Given the description of an element on the screen output the (x, y) to click on. 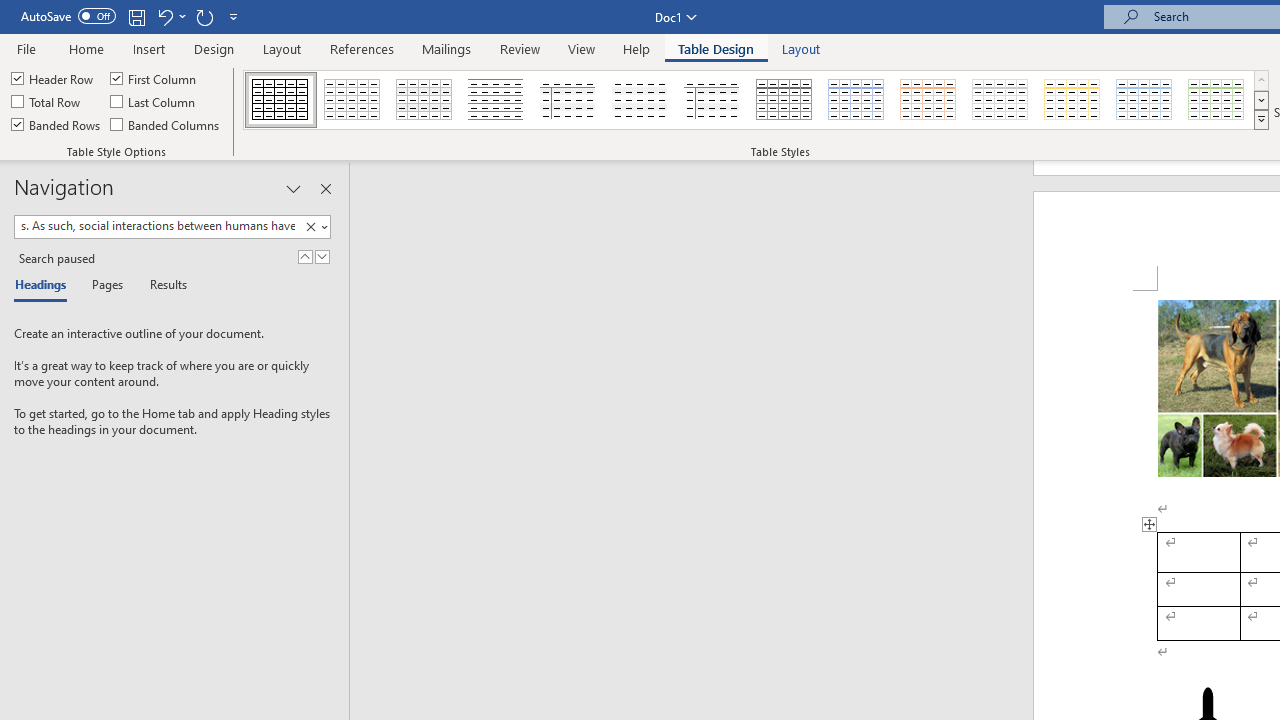
First Column (155, 78)
Grid Table 1 Light - Accent 6 (1217, 100)
Table Grid (280, 100)
Grid Table 1 Light (784, 100)
Total Row (47, 101)
Banded Rows (57, 124)
